Given the description of an element on the screen output the (x, y) to click on. 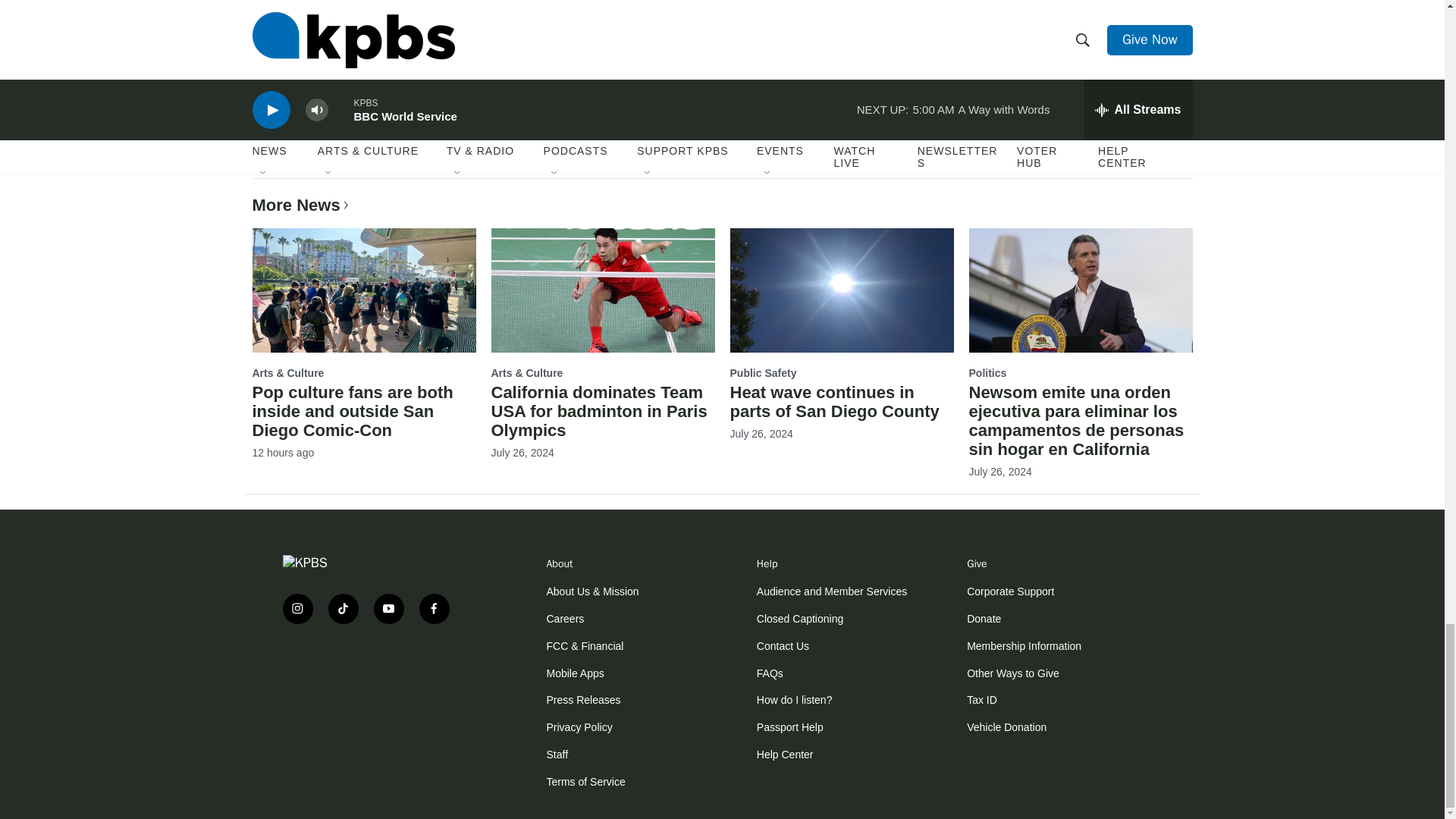
3rd party ad content (373, 684)
